Given the description of an element on the screen output the (x, y) to click on. 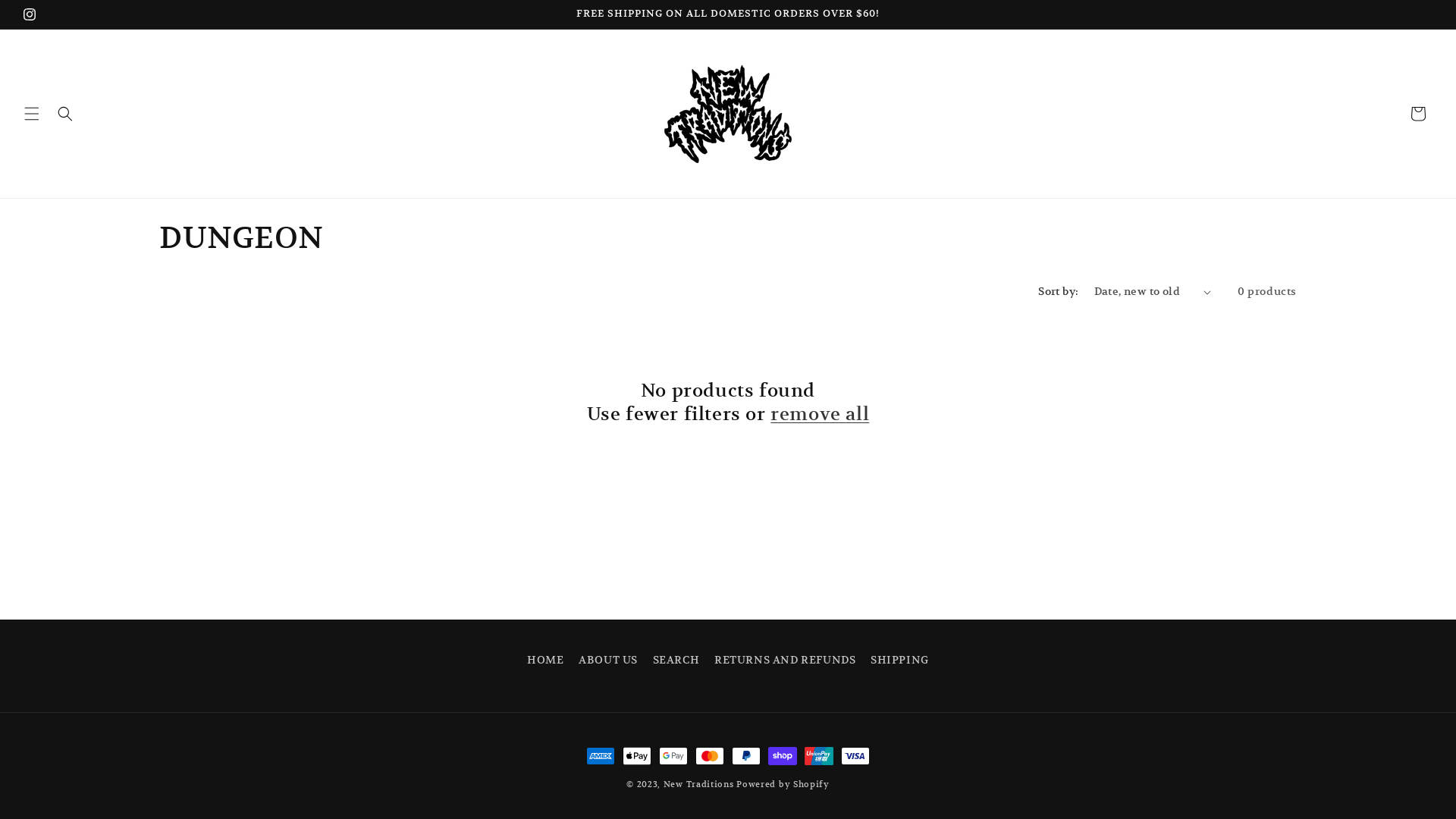
remove all Element type: text (819, 414)
ABOUT US Element type: text (607, 659)
Cart Element type: text (1417, 113)
RETURNS AND REFUNDS Element type: text (784, 659)
HOME Element type: text (545, 661)
New Traditions Element type: text (698, 783)
Instagram Element type: text (29, 14)
Powered by Shopify Element type: text (782, 783)
SHIPPING Element type: text (899, 659)
SEARCH Element type: text (675, 659)
